Given the description of an element on the screen output the (x, y) to click on. 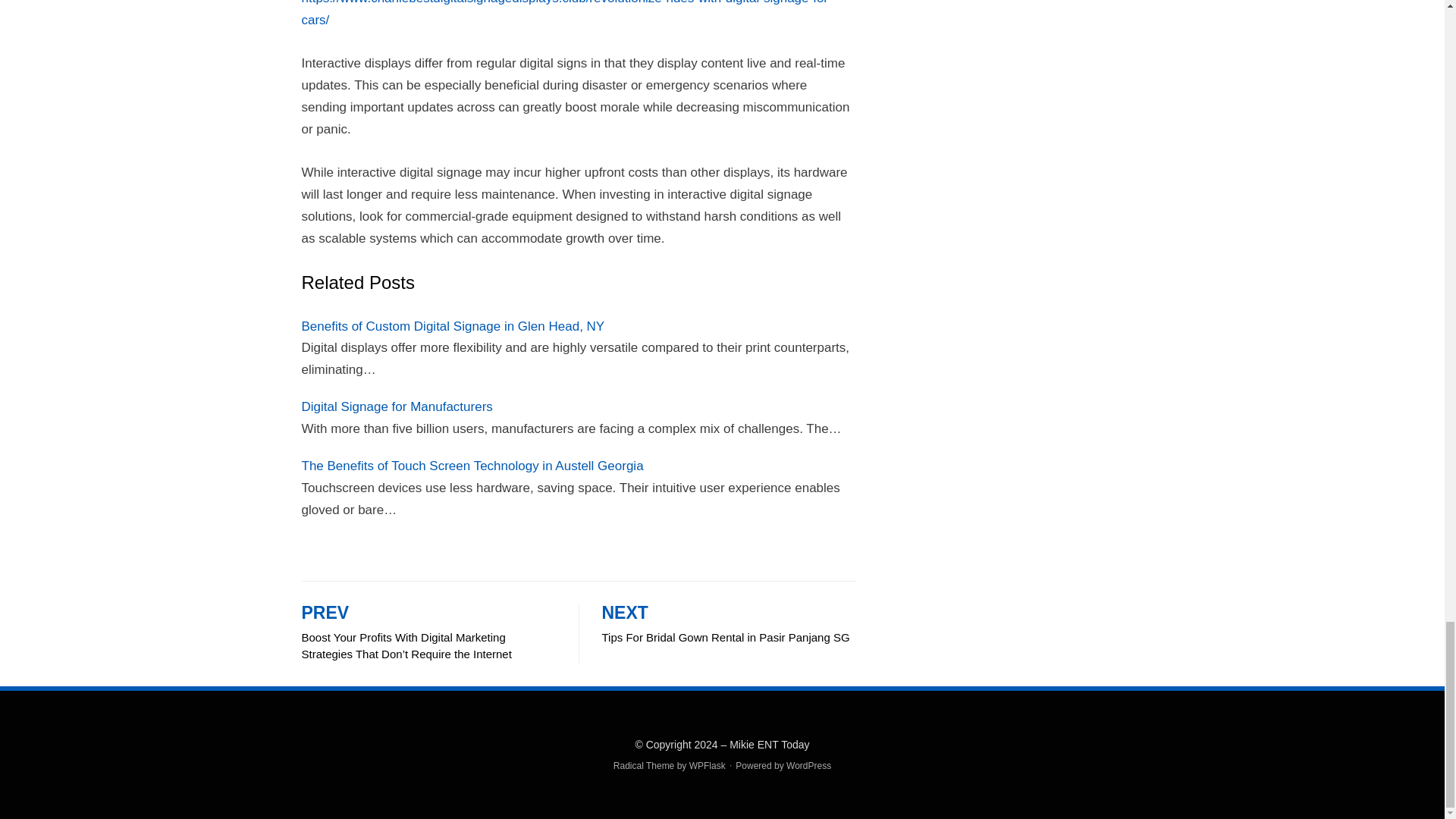
WordPress (808, 765)
Benefits of Custom Digital Signage in Glen Head, NY (453, 326)
The Benefits of Touch Screen Technology in Austell Georgia (472, 465)
Digital Signage for Manufacturers (729, 625)
WPFlask (397, 406)
